Given the description of an element on the screen output the (x, y) to click on. 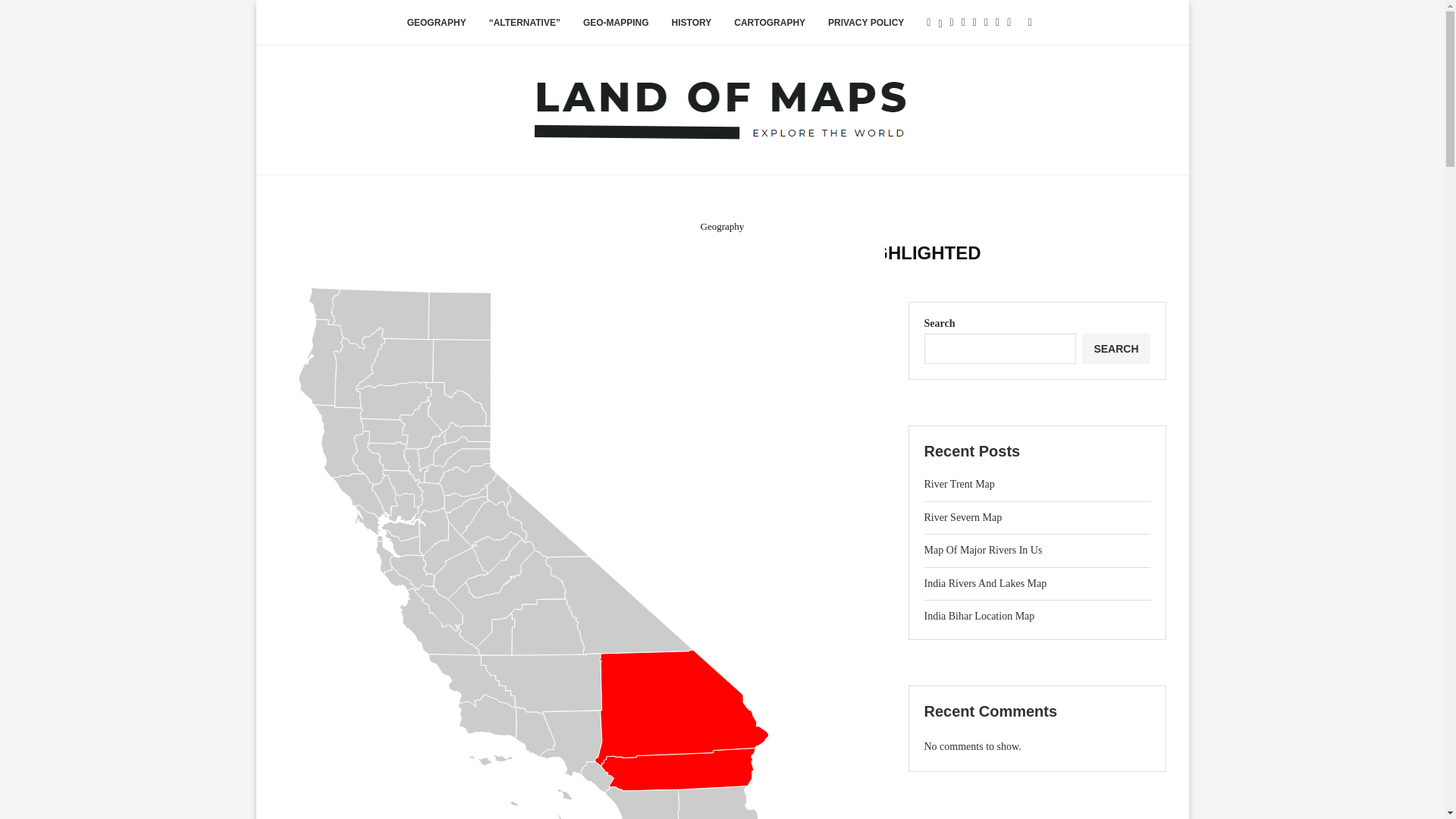
GEOGRAPHY (436, 22)
PRIVACY POLICY (866, 22)
Landofmaps (717, 275)
CARTOGRAPHY (769, 22)
Geography (722, 226)
GEO-MAPPING (616, 22)
HISTORY (691, 22)
